Given the description of an element on the screen output the (x, y) to click on. 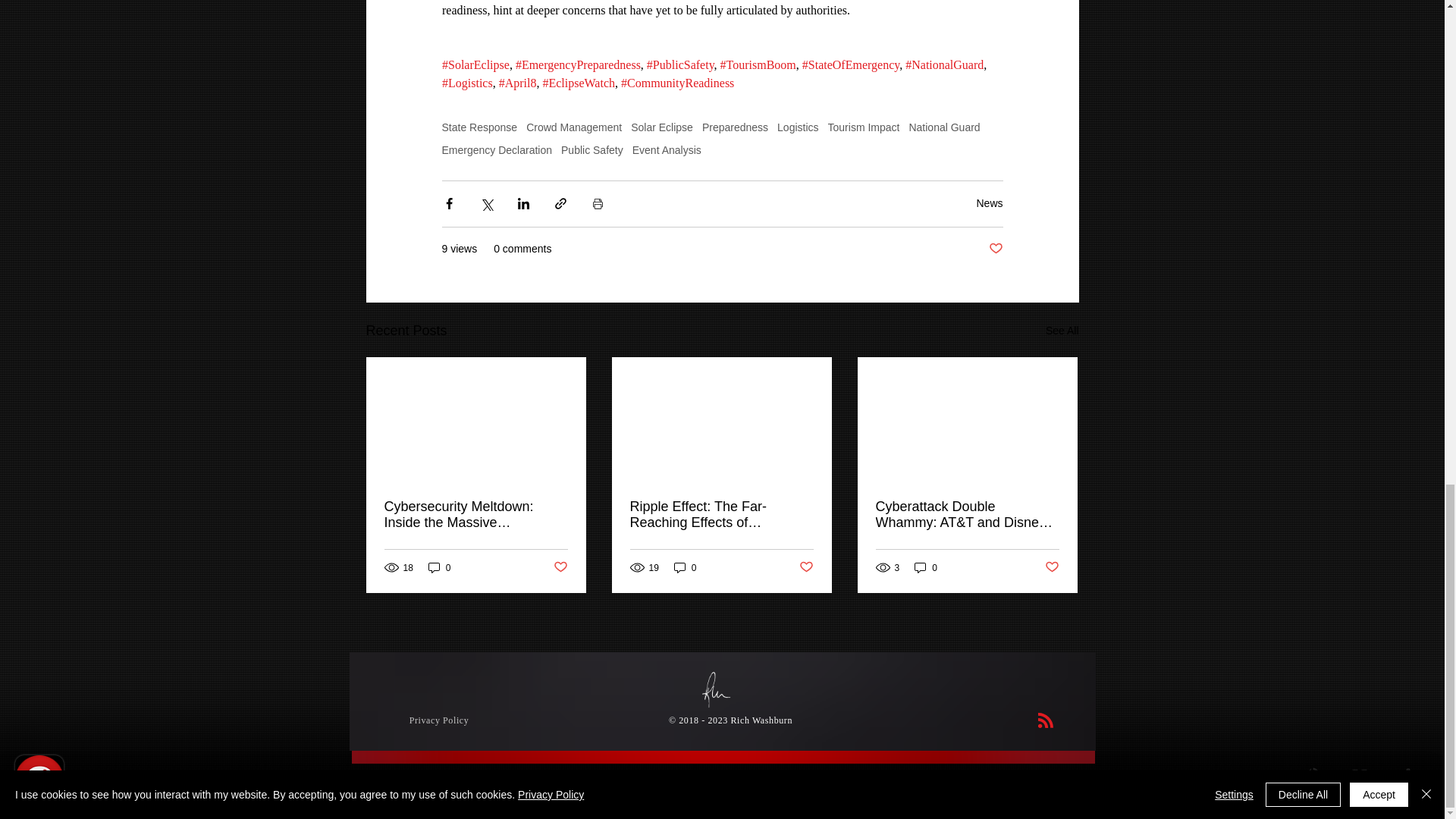
Crowd Management (573, 127)
Logistics (797, 127)
National Guard (943, 127)
Tourism Impact (863, 127)
Emergency Declaration (496, 150)
State Response (478, 127)
Solar Eclipse (661, 127)
Preparedness (734, 127)
